Given the description of an element on the screen output the (x, y) to click on. 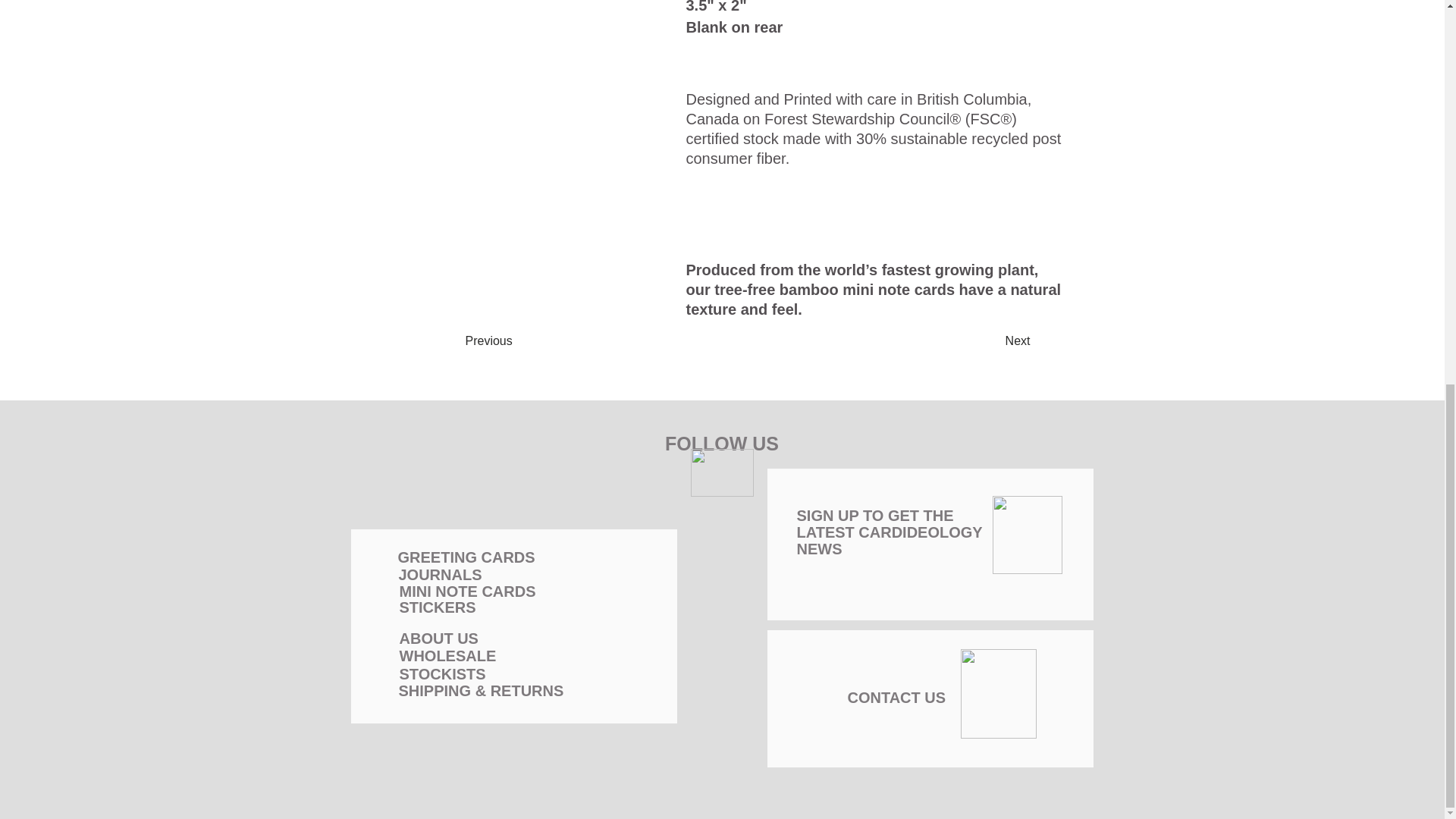
STICKERS (437, 606)
ABOUT US (437, 638)
GREETING CARDS (465, 556)
MINI NOTE CARDS (888, 531)
Previous (466, 591)
JOURNALS (520, 341)
CONTACT US (439, 574)
WHOLESALE (896, 697)
CONGRATULATIONS.jpeg (447, 655)
Hand with a note (501, 124)
Hand drawn heart (1026, 535)
STOCKISTS (721, 472)
FOLLOW US (441, 673)
Next (721, 443)
